Given the description of an element on the screen output the (x, y) to click on. 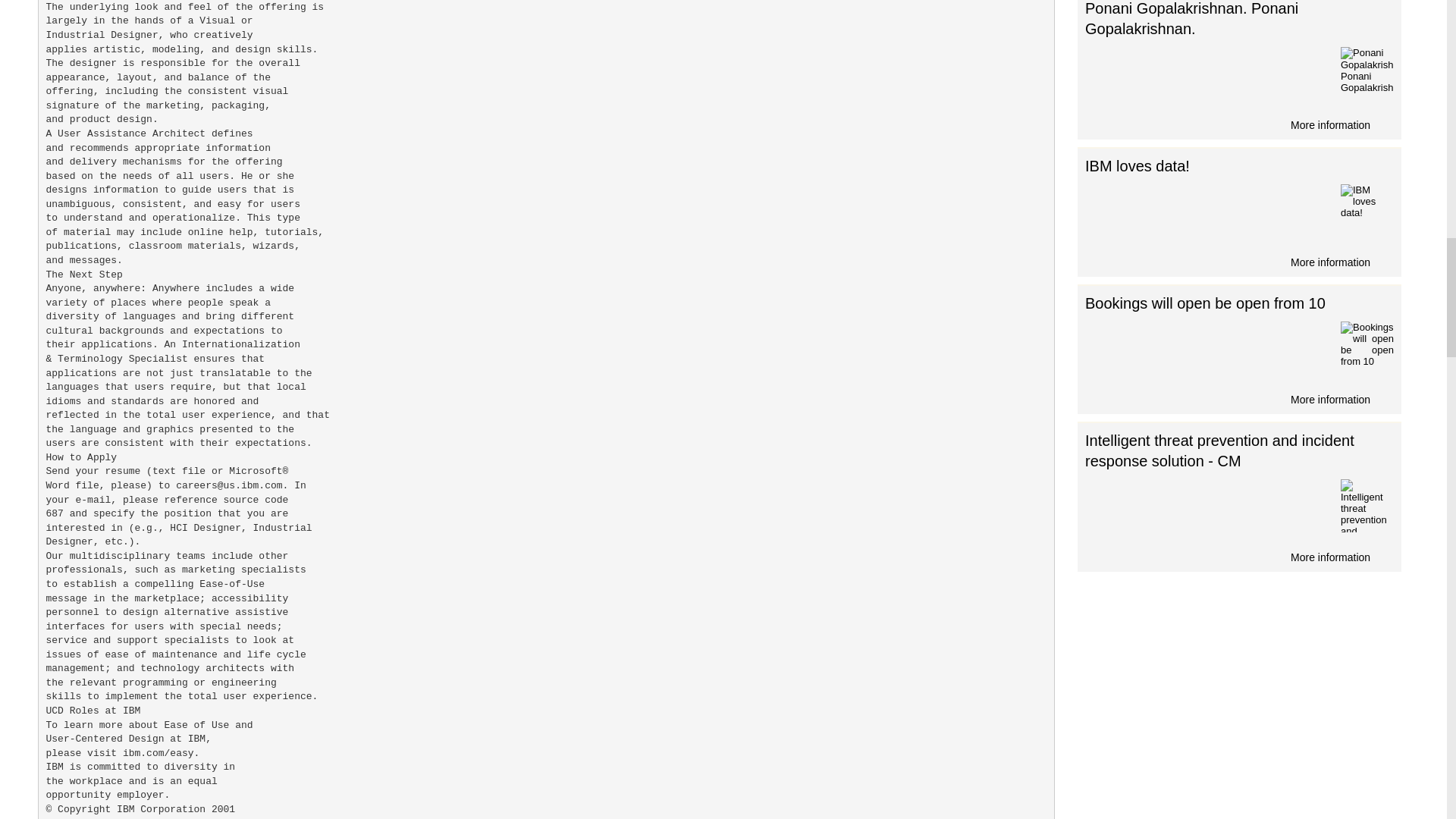
More information (1238, 260)
IBM loves data! (1366, 210)
More information (1238, 397)
Ponani Gopalakrishnan. Ponani Gopalakrishnan. (1366, 72)
Bookings will open be open from 10 (1366, 347)
Ponani Gopalakrishnan. Ponani Gopalakrishnan. (1191, 18)
IBM loves data! (1136, 166)
More information (1238, 555)
